Given the description of an element on the screen output the (x, y) to click on. 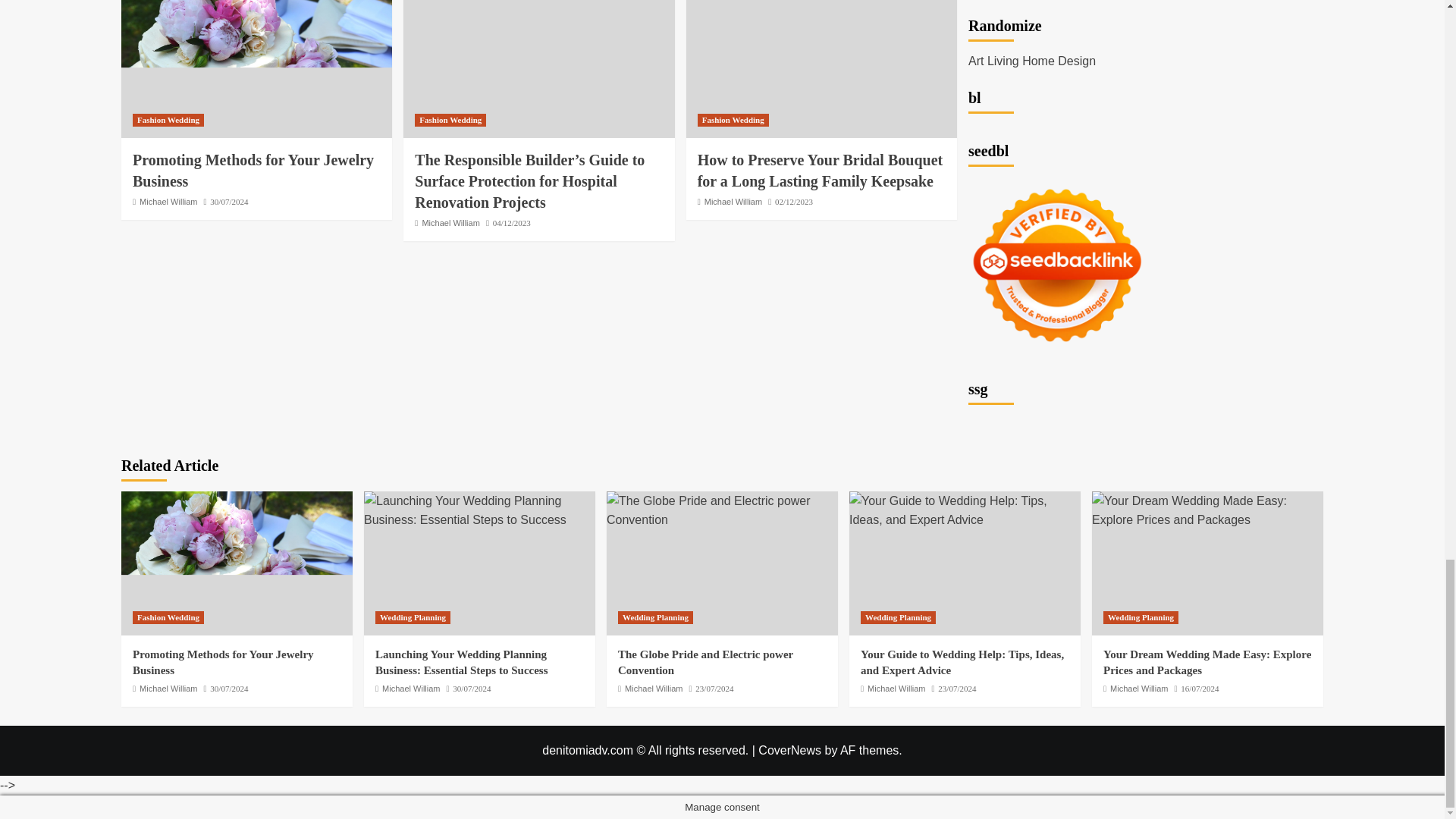
Fashion Wedding (732, 119)
Michael William (450, 222)
Michael William (732, 201)
Michael William (167, 201)
Your Dream Wedding Made Easy: Explore Prices and Packages (1207, 510)
The Globe Pride and Electric power Convention (722, 510)
Promoting Methods for Your Jewelry Business (253, 170)
Your Guide to Wedding Help: Tips, Ideas, and Expert Advice (964, 510)
Seedbacklink (1056, 264)
Promoting Methods for Your Jewelry Business (236, 563)
Fashion Wedding (450, 119)
Promoting Methods for Your Jewelry Business (255, 69)
